Given the description of an element on the screen output the (x, y) to click on. 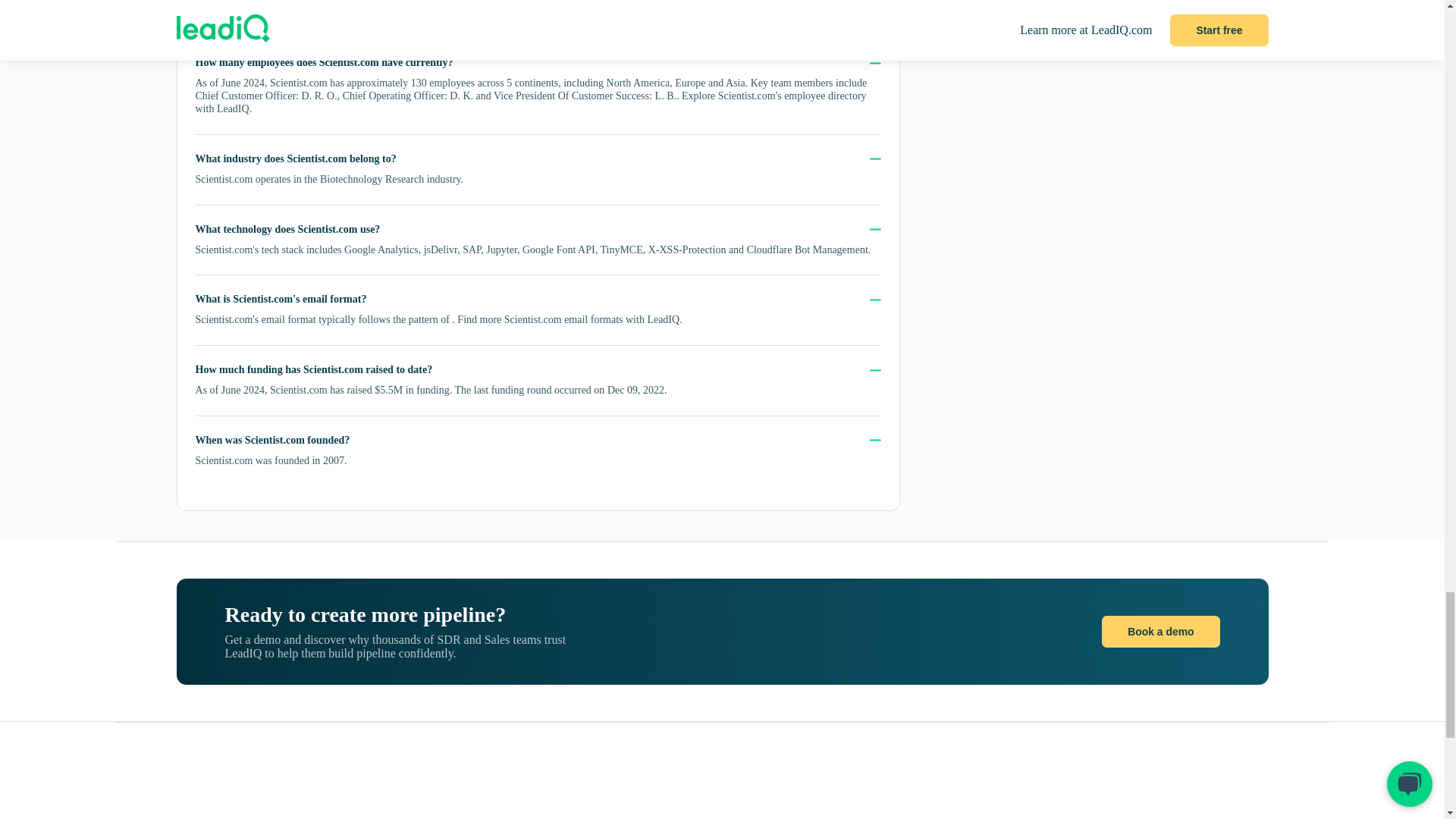
Scientist.com's employee directory (791, 95)
Find more Scientist.com email formats (540, 319)
